Given the description of an element on the screen output the (x, y) to click on. 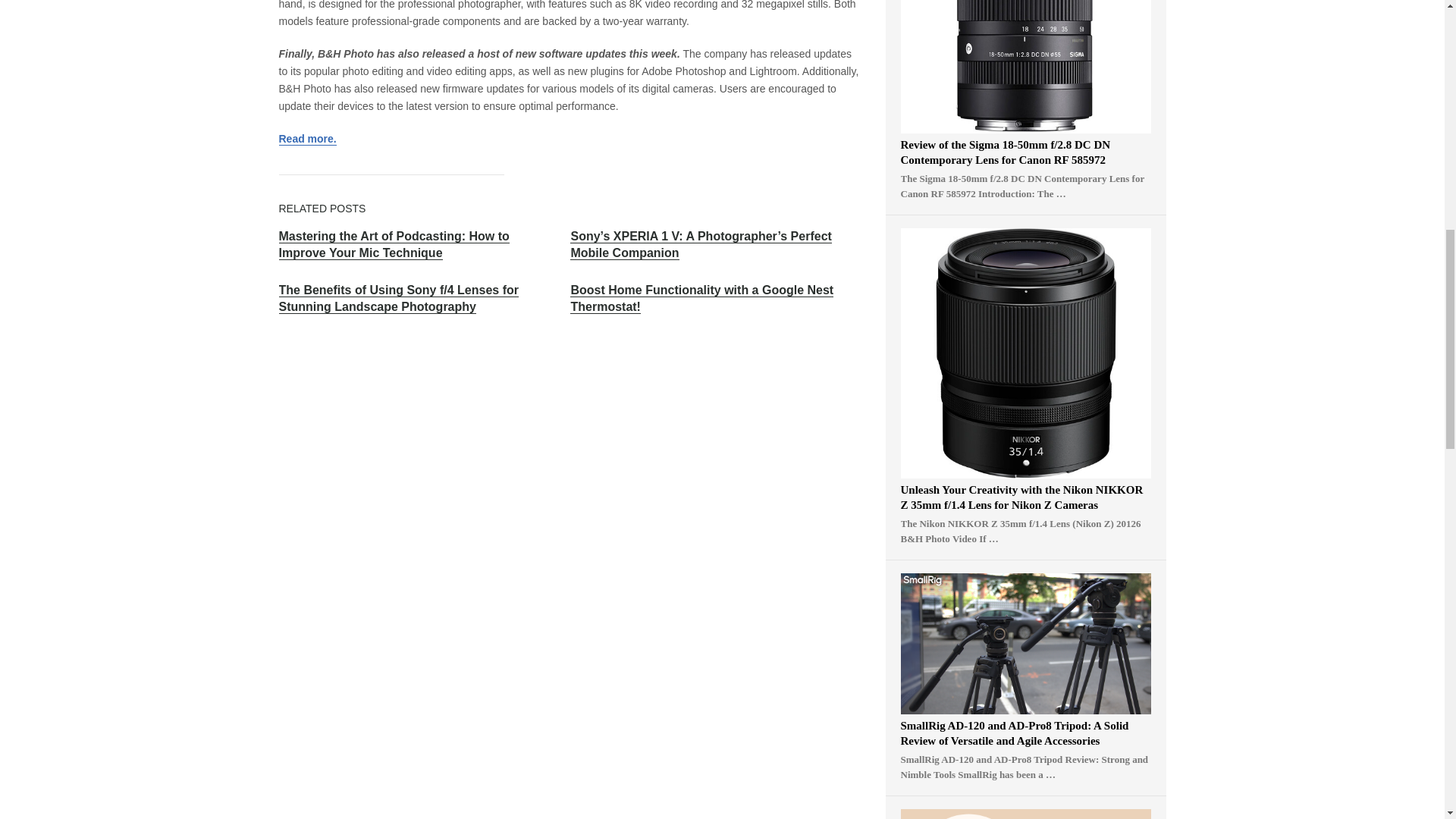
Read more. (307, 138)
Boost Home Functionality with a Google Nest Thermostat! (701, 298)
